Given the description of an element on the screen output the (x, y) to click on. 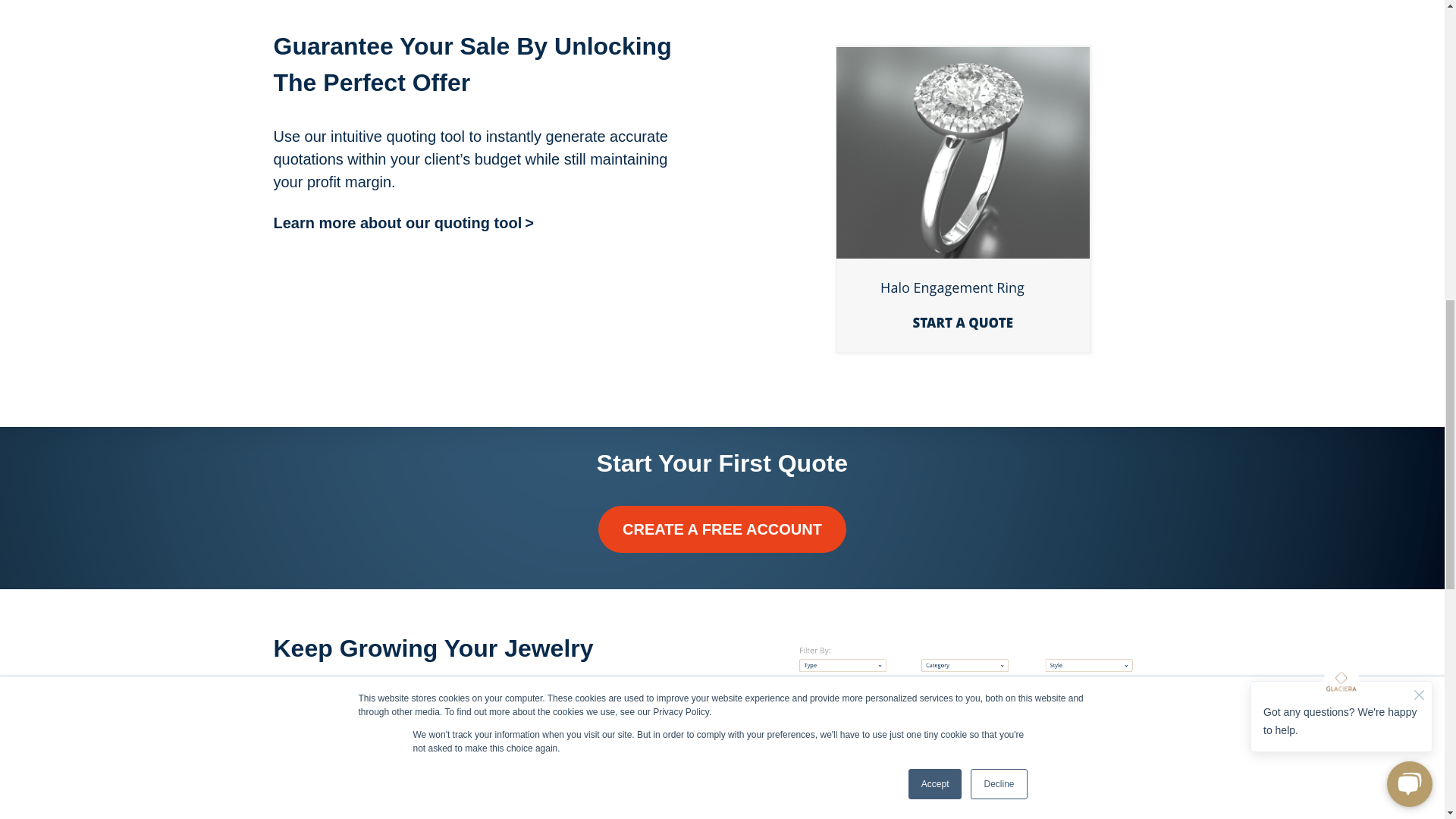
CREATE A FREE ACCOUNT (721, 529)
Learn more about our quoting tool (402, 222)
